Given the description of an element on the screen output the (x, y) to click on. 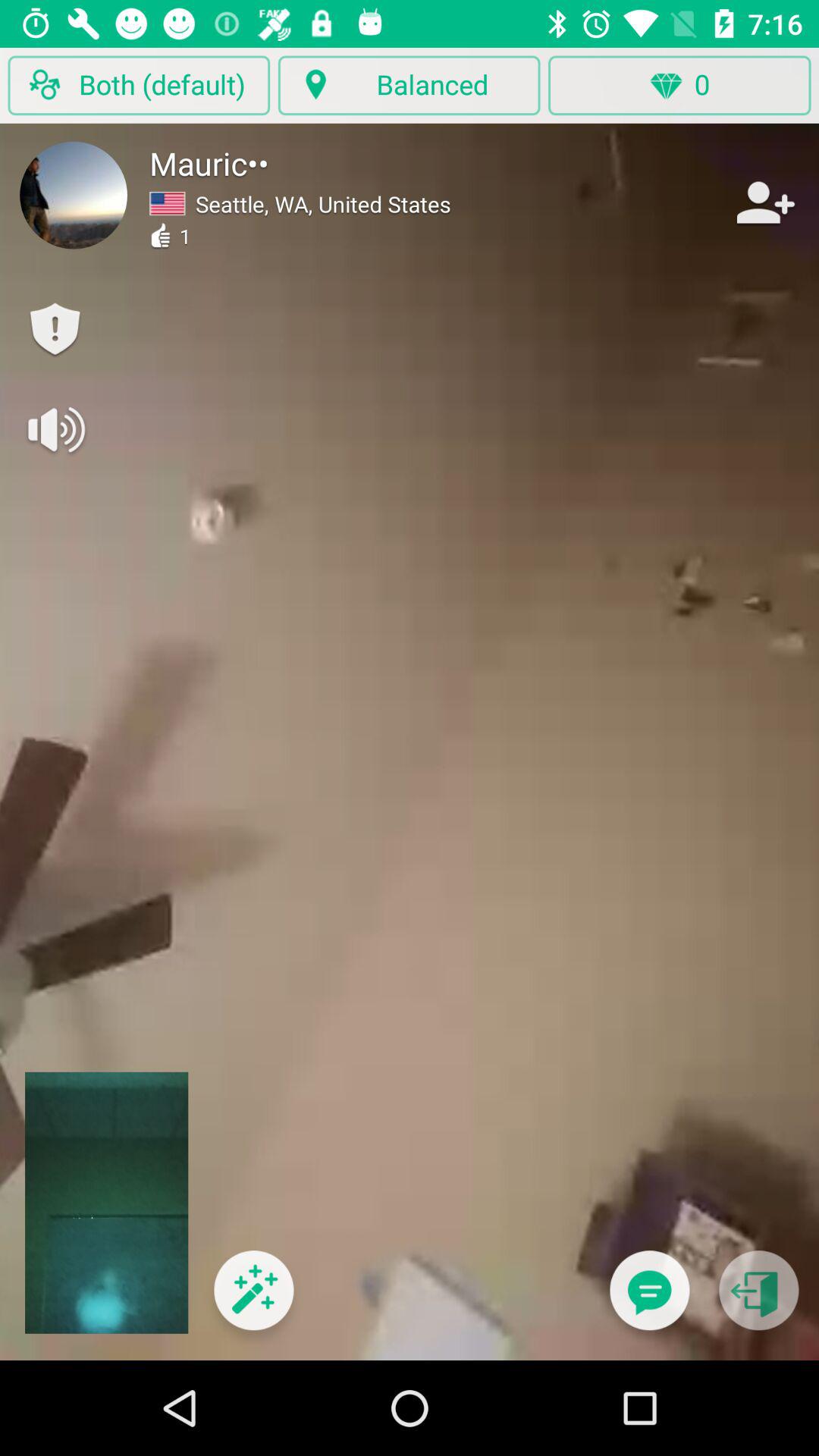
turn volume on (55, 429)
